Given the description of an element on the screen output the (x, y) to click on. 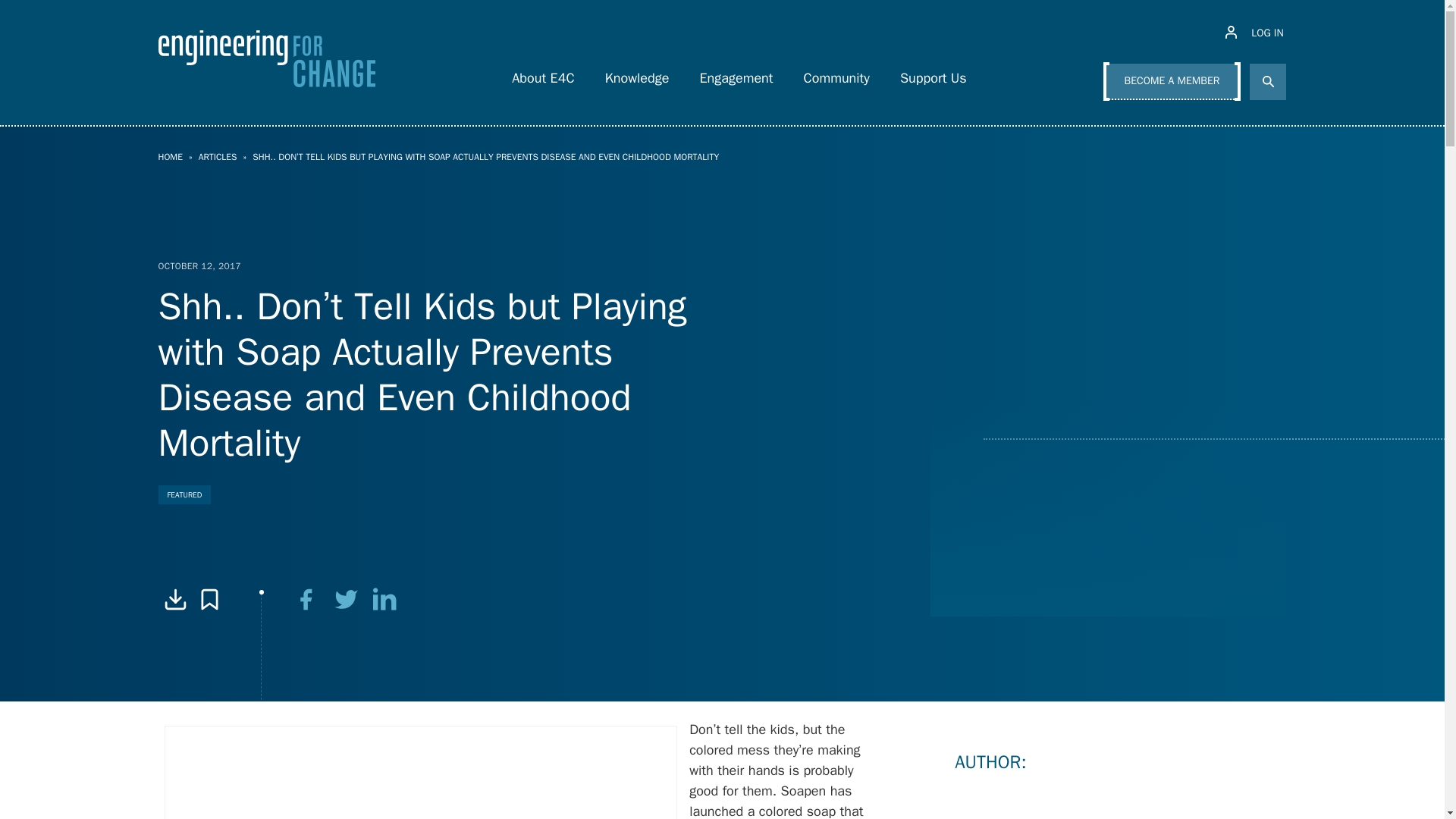
twitter (345, 598)
Support Us (933, 73)
About E4C (542, 73)
Community (837, 73)
LOG IN (1255, 33)
BECOME A MEMBER (1172, 81)
Download (174, 599)
linkedin (384, 598)
Engagement (735, 73)
facebook (306, 598)
Log in to bookmark (209, 599)
HOME (169, 156)
Knowledge (636, 73)
